Given the description of an element on the screen output the (x, y) to click on. 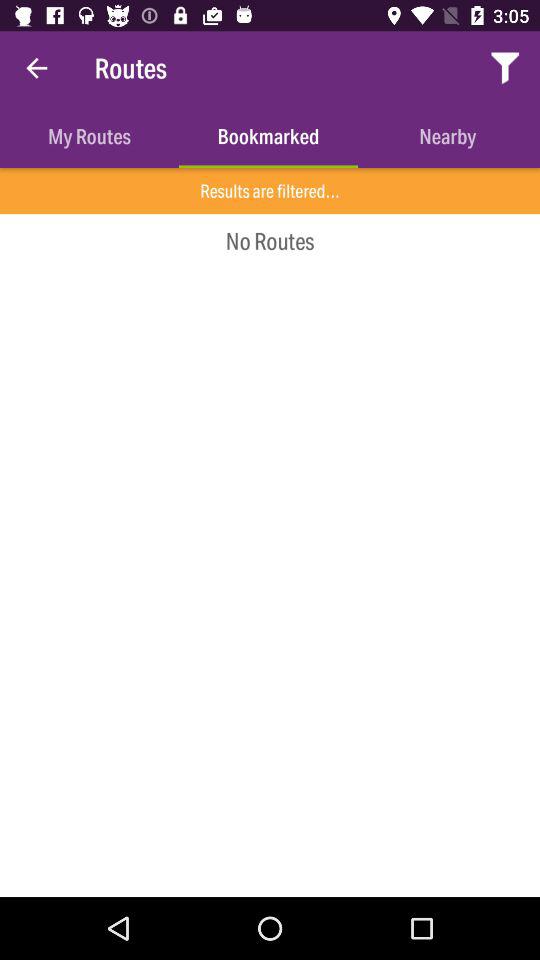
tap item above the my routes icon (36, 68)
